Given the description of an element on the screen output the (x, y) to click on. 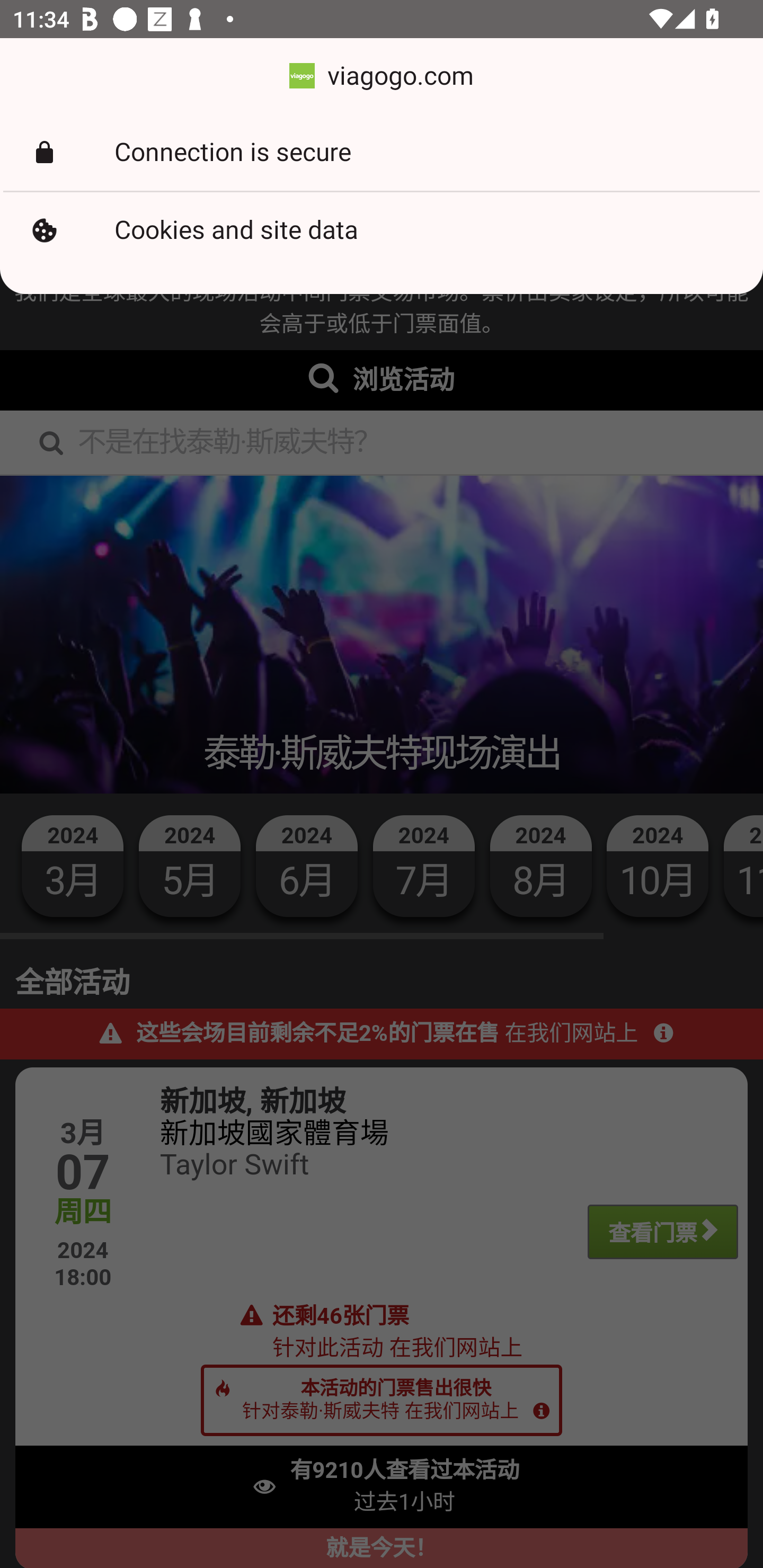
viagogo.com (381, 75)
Connection is secure (381, 152)
Cookies and site data (381, 230)
